Given the description of an element on the screen output the (x, y) to click on. 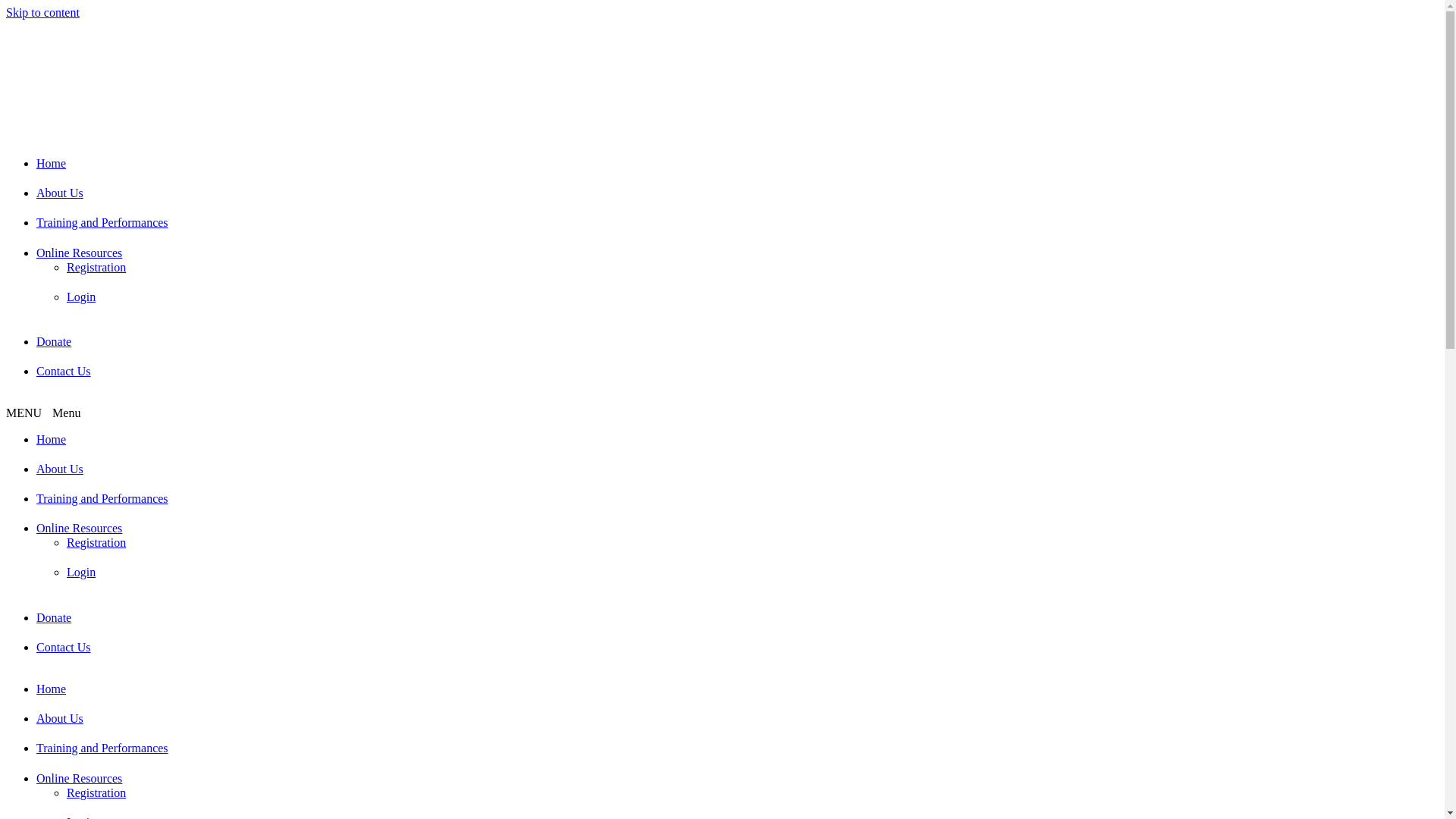
Donate Element type: text (53, 617)
Skip to content Element type: text (42, 12)
Home Element type: text (50, 162)
Login Element type: text (80, 571)
About Us Element type: text (59, 192)
Donate Element type: text (53, 341)
Login Element type: text (80, 296)
Training and Performances Element type: text (102, 222)
About Us Element type: text (59, 468)
Home Element type: text (50, 438)
Registration Element type: text (95, 266)
Training and Performances Element type: text (102, 498)
Online Resources Element type: text (79, 777)
Home Element type: text (50, 688)
Registration Element type: text (95, 542)
Contact Us Element type: text (63, 370)
Registration Element type: text (95, 792)
About Us Element type: text (59, 718)
Online Resources Element type: text (79, 527)
Contact Us Element type: text (63, 646)
Online Resources Element type: text (79, 252)
Listening-to-Voices-Logo Element type: hover (81, 80)
Training and Performances Element type: text (102, 747)
